Given the description of an element on the screen output the (x, y) to click on. 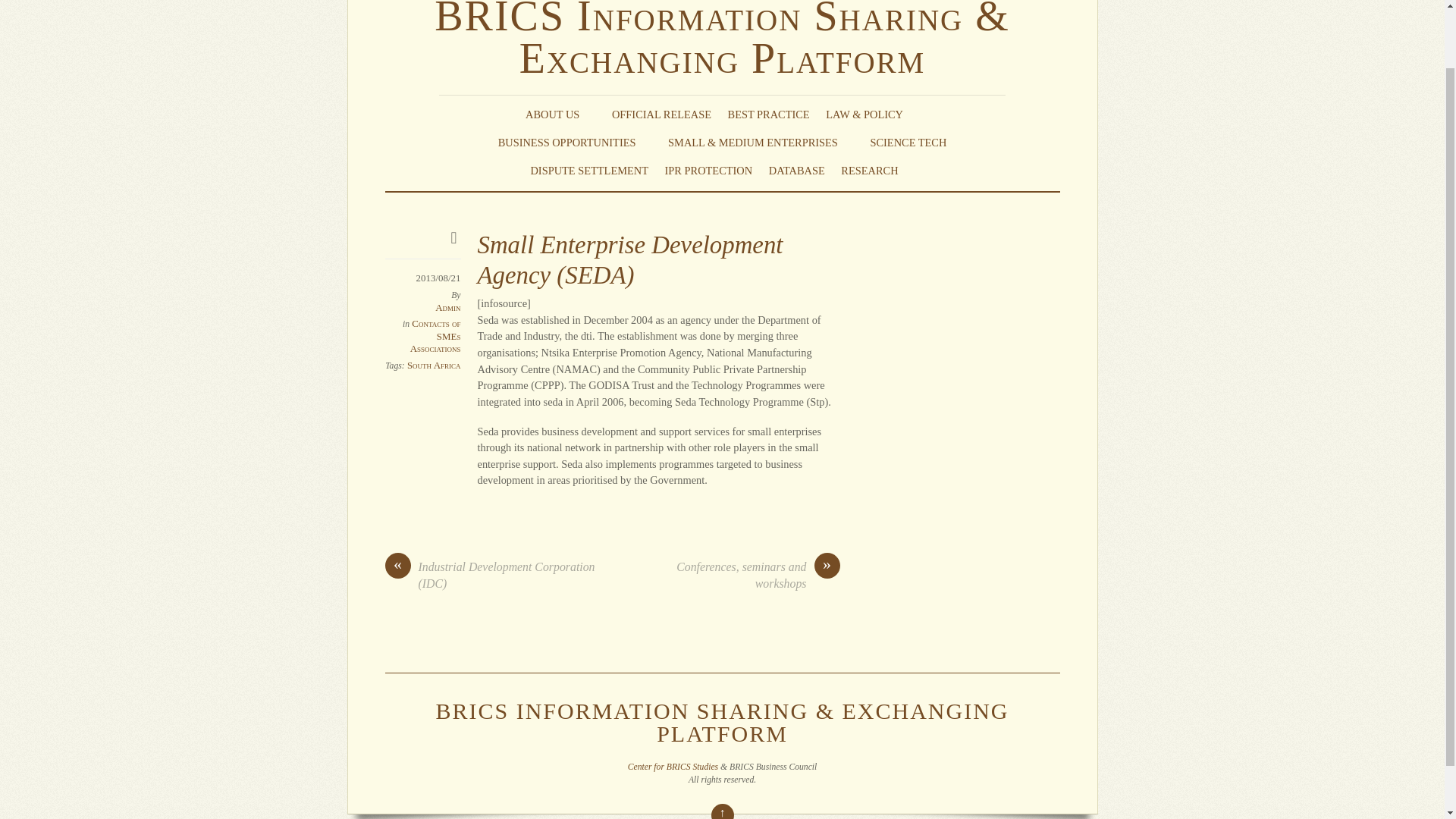
South Africa (434, 365)
ABOUT US (559, 114)
SCIENCE TECH (908, 142)
BUSINESS OPPORTUNITIES (575, 142)
RESEARCH (877, 169)
OFFICIAL RELEASE (661, 114)
Contacts of SMEs Associations (435, 335)
IPR PROTECTION (709, 169)
BEST PRACTICE (768, 114)
DATABASE (796, 169)
Center for BRICS Studies (672, 767)
Admin (447, 307)
DISPUTE SETTLEMENT (588, 169)
